Given the description of an element on the screen output the (x, y) to click on. 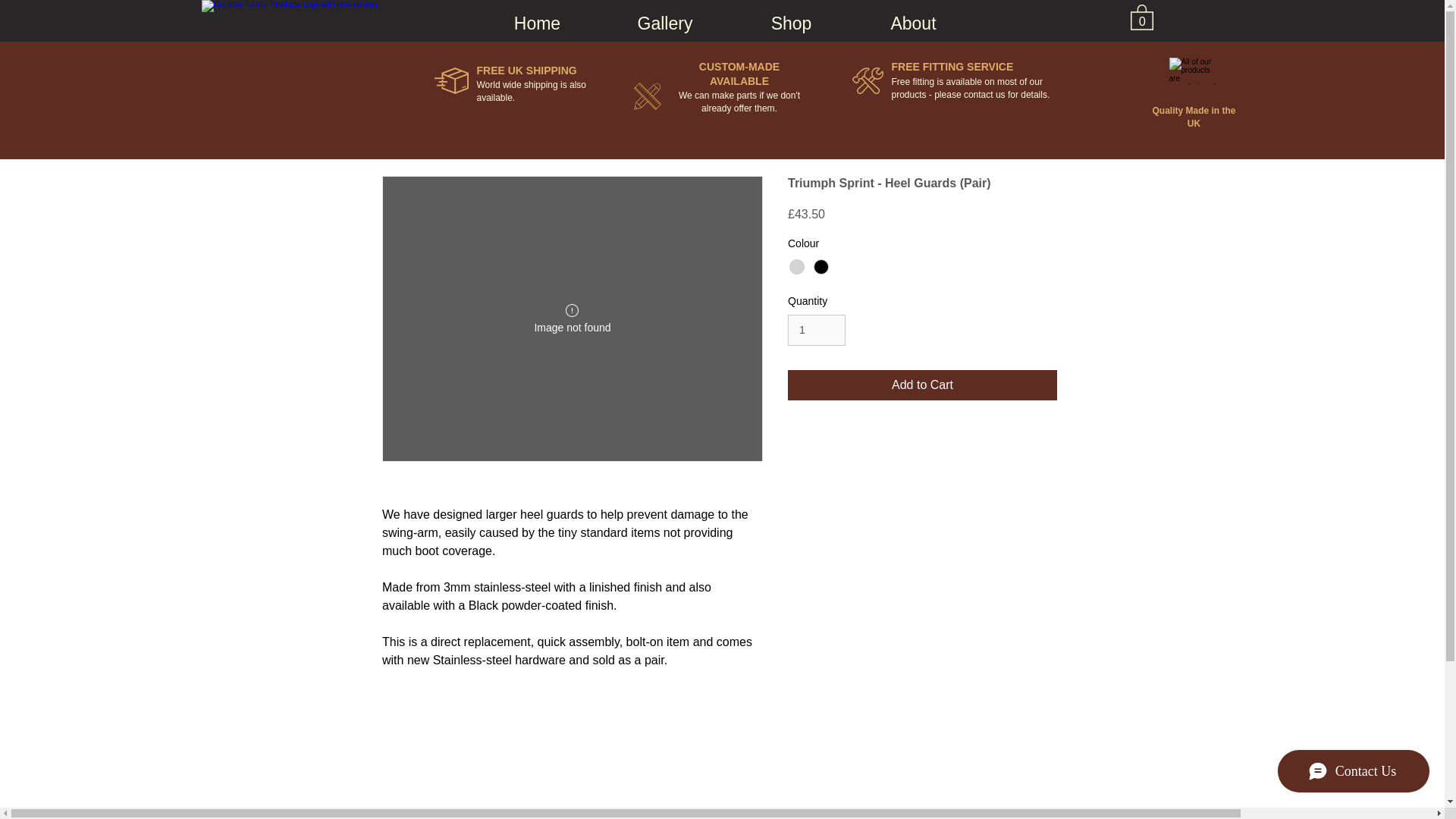
1 (816, 329)
Wix Chat (1356, 774)
Home (536, 17)
About (913, 17)
Shop (791, 17)
Gallery (664, 17)
Add to Cart (922, 385)
